Given the description of an element on the screen output the (x, y) to click on. 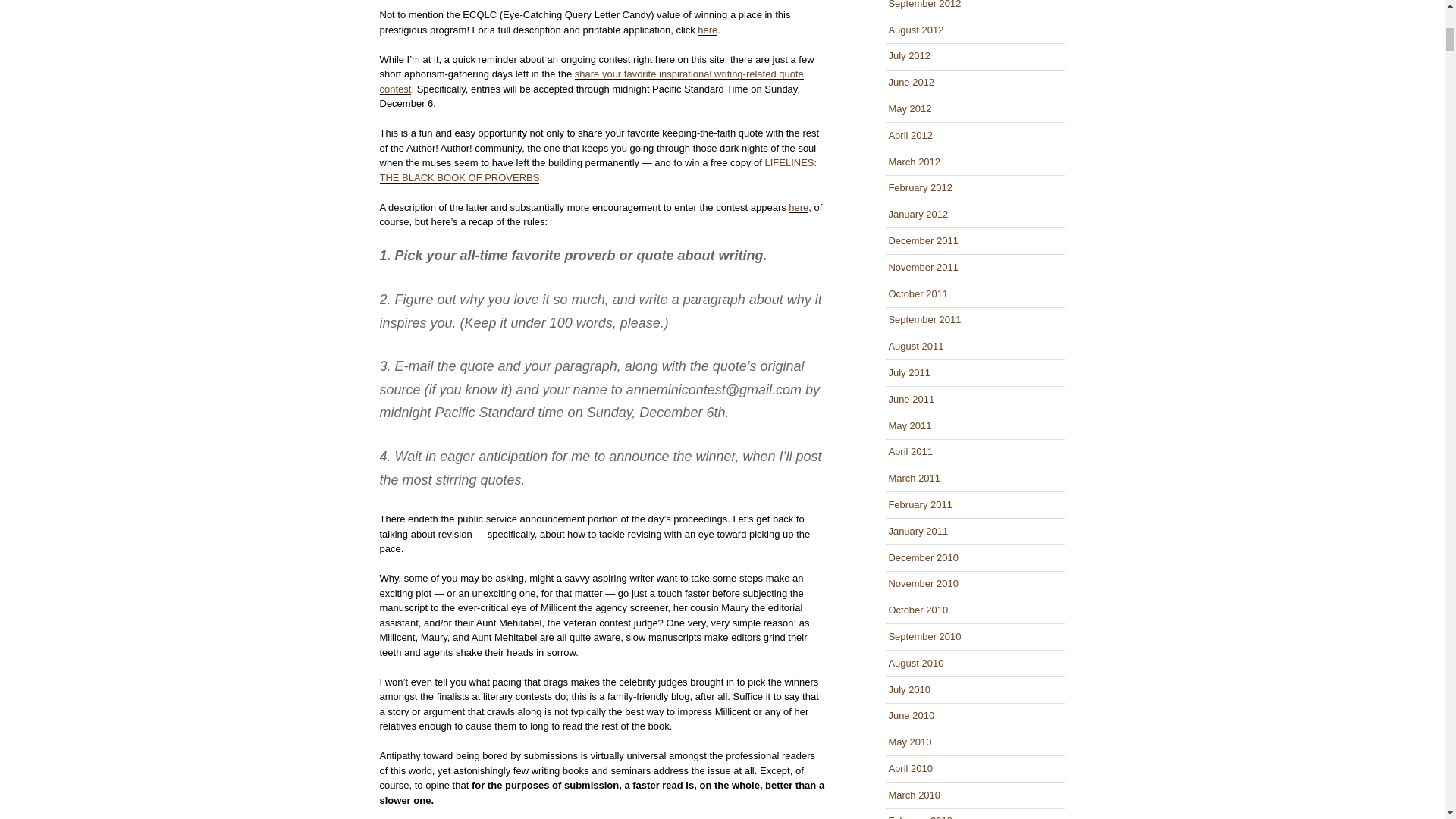
here (798, 206)
here (707, 30)
LIFELINES: THE BLACK BOOK OF PROVERBS (597, 170)
